Given the description of an element on the screen output the (x, y) to click on. 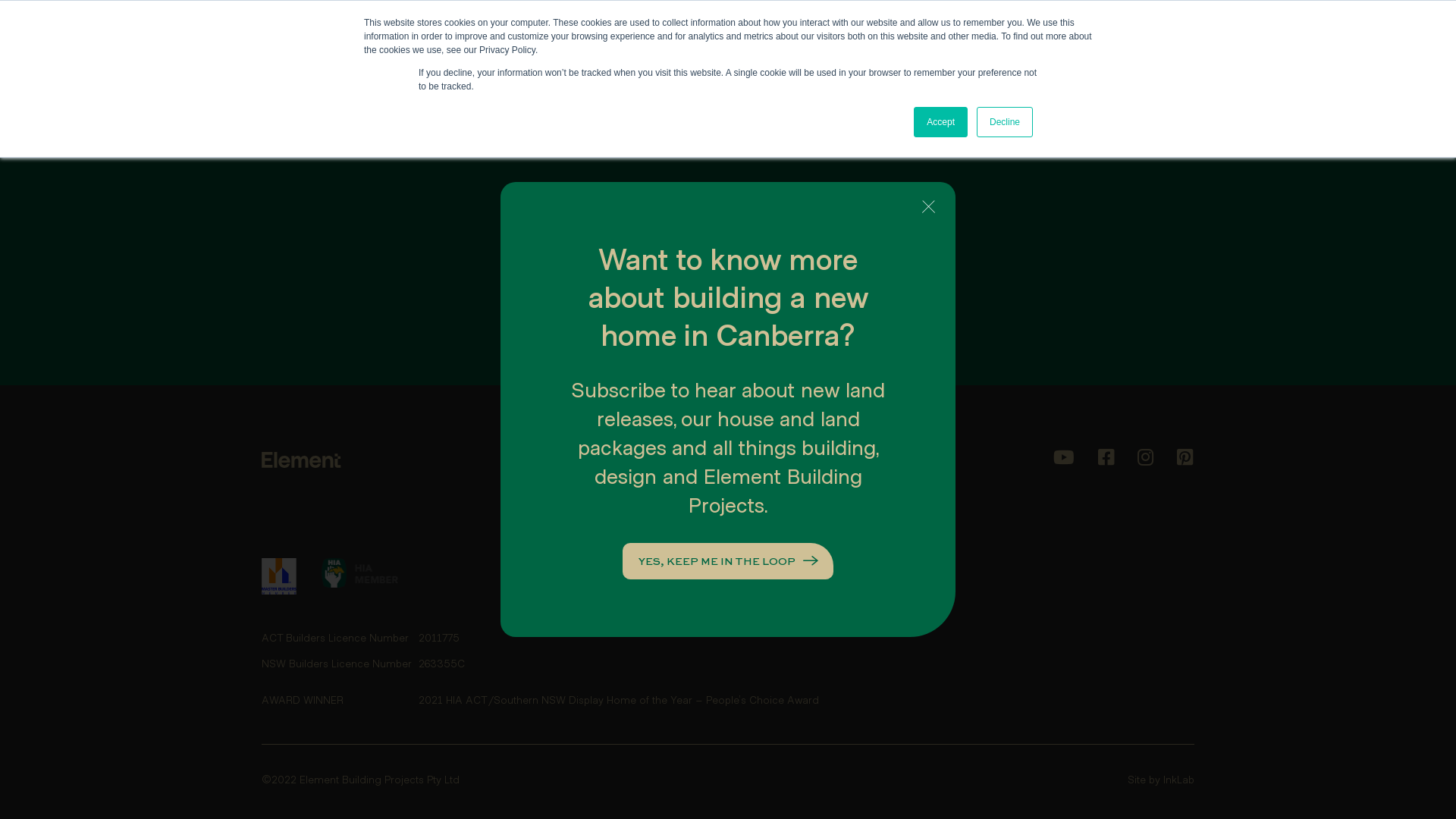
Resources Element type: text (925, 512)
Jasmine display home Element type: text (637, 512)
Our designs Element type: text (770, 538)
(02) 6112 8891 Element type: text (911, 40)
WHAT WE OFFER Element type: text (529, 40)
Contact Element type: text (918, 485)
YES, KEEP ME IN THE LOOP Element type: text (728, 560)
About us Element type: text (603, 459)
House & land Element type: text (774, 565)
Accept Element type: text (940, 121)
Pinterest Element type: hover (1184, 457)
FAQ Element type: text (909, 538)
GALLERY Element type: text (628, 40)
Instagram Element type: hover (1145, 457)
RESOURCES Element type: text (797, 40)
Our Process Element type: text (613, 485)
CONTACT Element type: text (707, 40)
Site by InkLab Element type: text (1160, 779)
Decline Element type: text (1004, 121)
What we offer Element type: text (777, 459)
YouTube Element type: hover (1063, 457)
VISIT OUR DISPLAY HOMES Element type: text (1088, 40)
Ivy display home Element type: text (623, 538)
ABOUT US Element type: text (426, 40)
Custom designs Element type: text (781, 512)
Knockdown rebuilds Element type: text (791, 485)
Gallery Element type: text (915, 459)
Facebook Element type: hover (1105, 457)
